Given the description of an element on the screen output the (x, y) to click on. 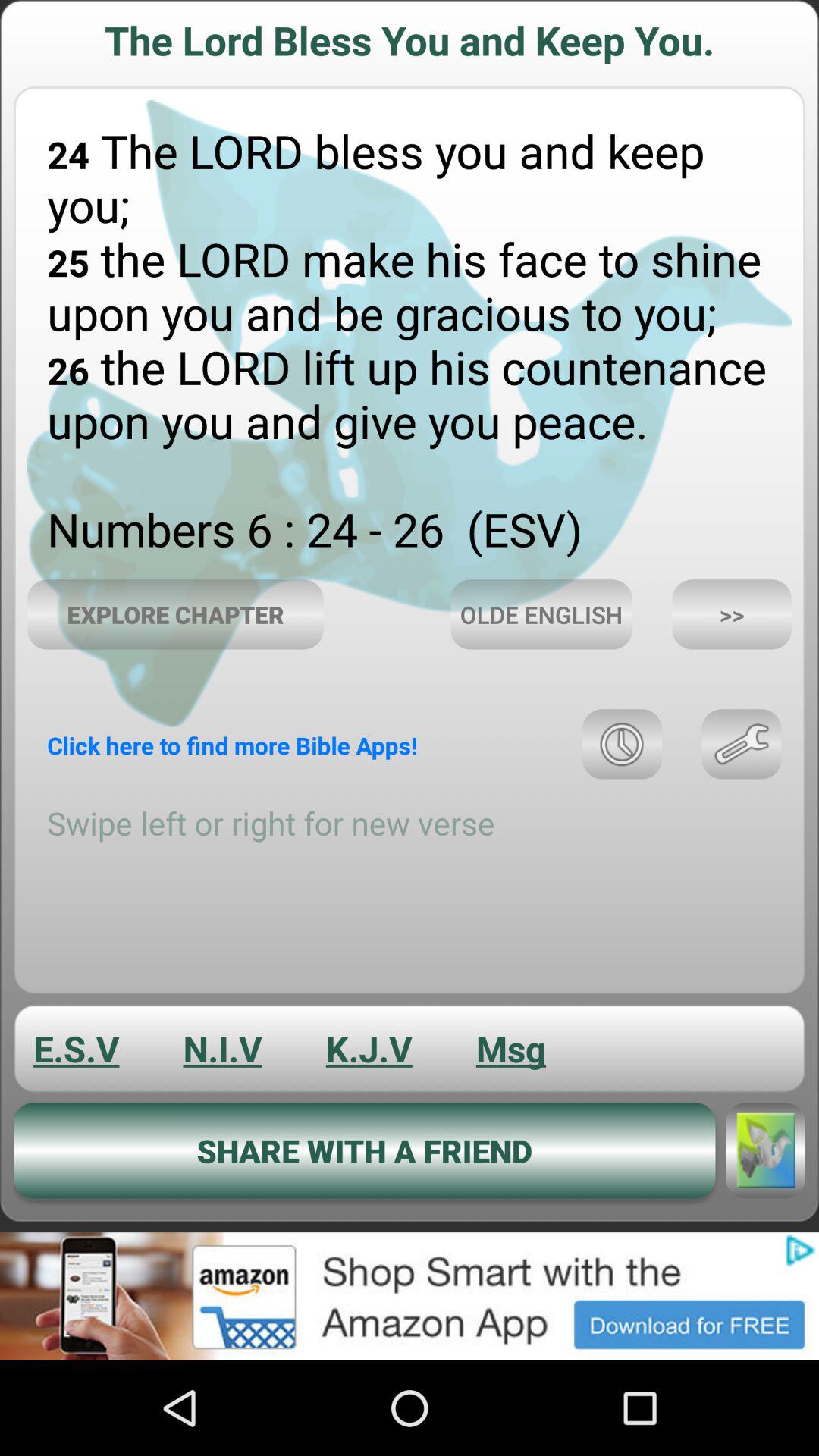
click on the button which is above the advertisement of the page (364, 1150)
click on the text below explore chapter (232, 745)
click on the button next to olde english (731, 614)
